Given the description of an element on the screen output the (x, y) to click on. 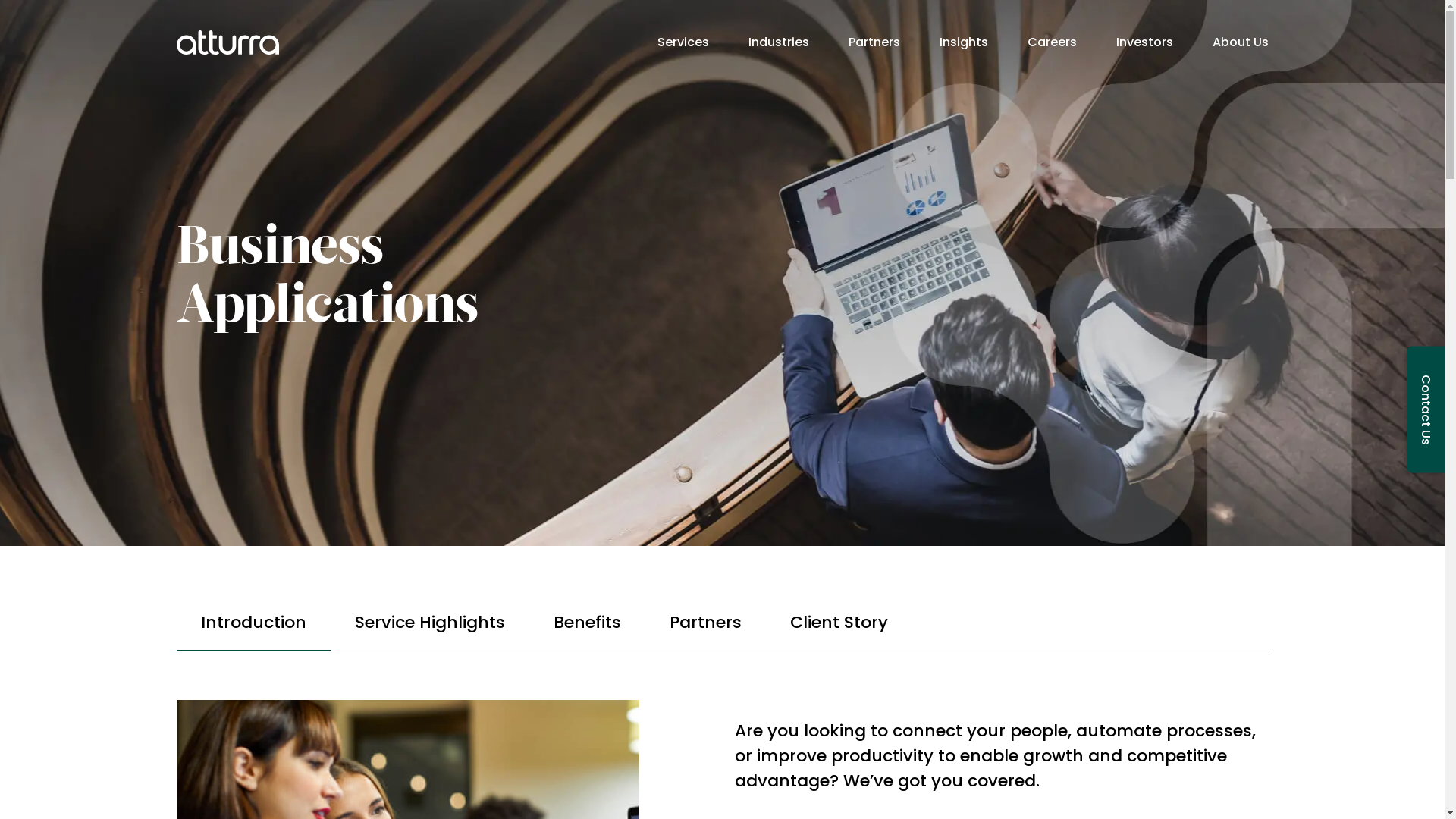
Careers Element type: text (1051, 42)
Insights Element type: text (962, 42)
Skip to main content Element type: text (0, 0)
Partners Element type: text (873, 42)
Investors Element type: text (1144, 42)
Introduction Element type: text (252, 622)
Industries Element type: text (777, 42)
Client Story Element type: text (838, 622)
Home Element type: hover (226, 42)
About Us Element type: text (1239, 42)
Benefits Element type: text (587, 622)
Partners Element type: text (704, 622)
Service Highlights Element type: text (429, 622)
Services Element type: text (682, 42)
Contact Us Element type: text (1425, 408)
